Given the description of an element on the screen output the (x, y) to click on. 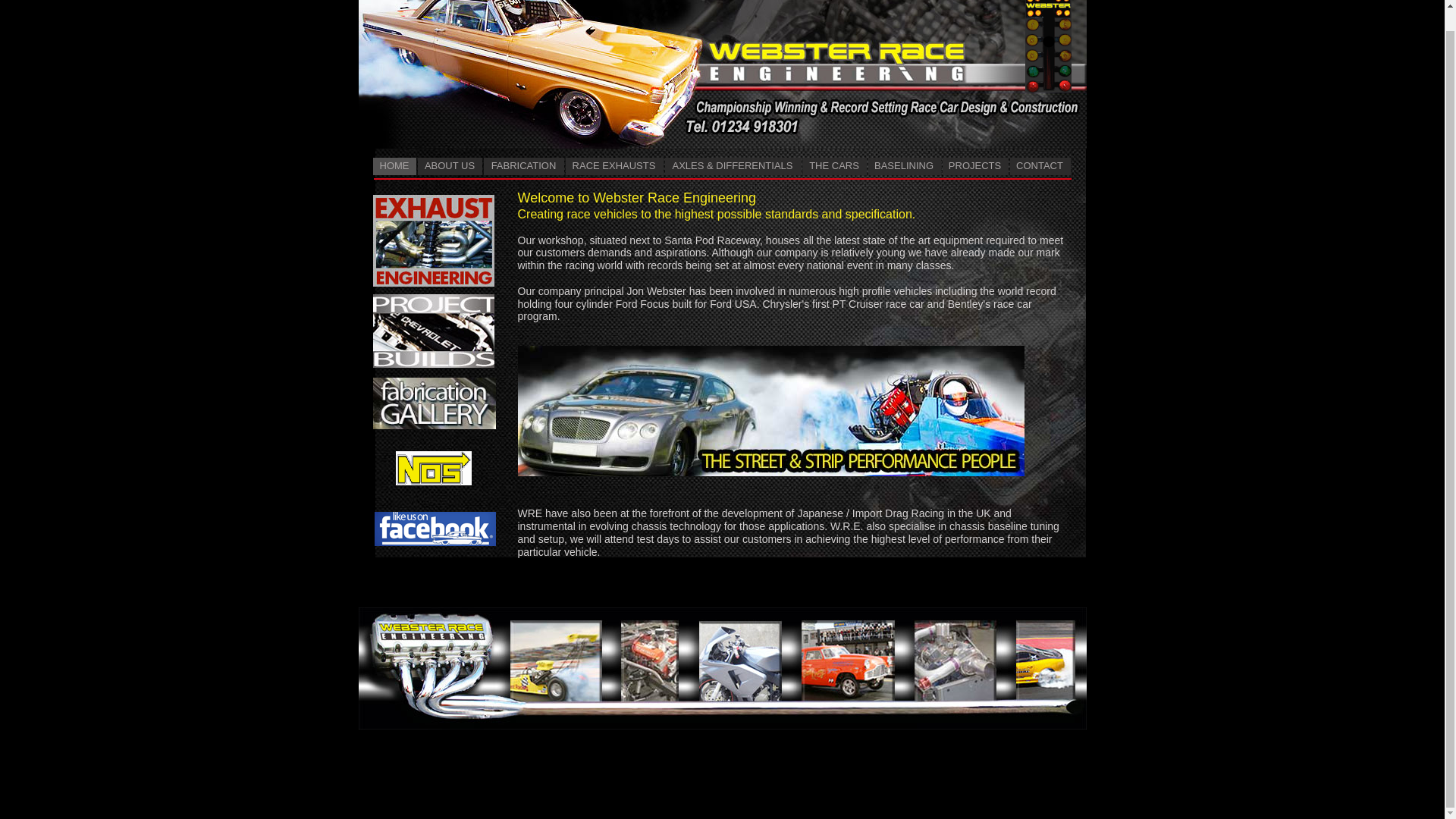
ABOUT US (448, 166)
PROJECTS (974, 166)
FABRICATION (523, 166)
exhaust services (433, 249)
CONTACT (1040, 166)
HOME (394, 166)
BASELINING (903, 166)
facebook (435, 528)
THE CARS (834, 166)
RACE EXHAUSTS (614, 166)
